Given the description of an element on the screen output the (x, y) to click on. 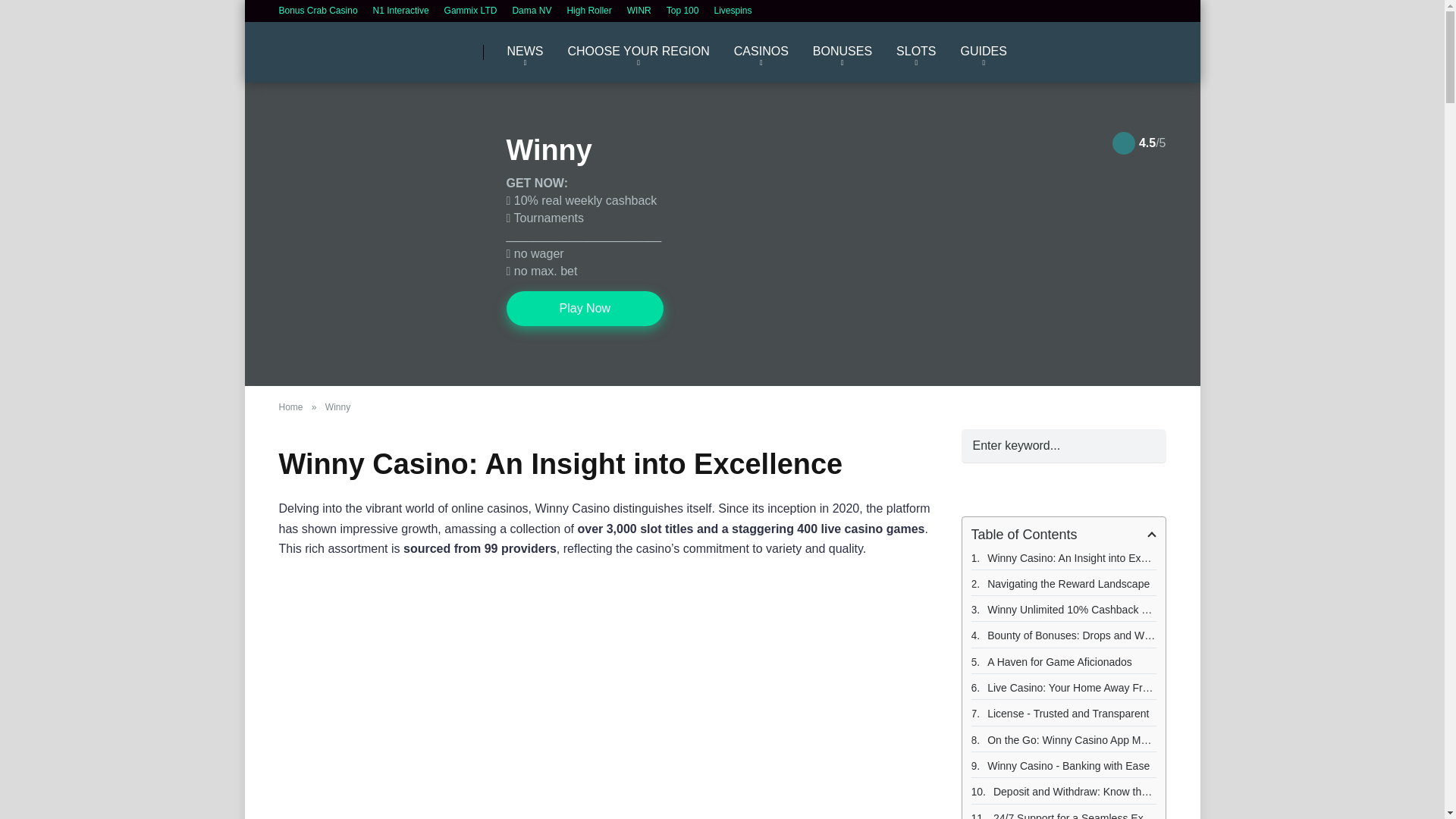
WINR (638, 9)
Livespins (732, 9)
Play Now (584, 308)
High Roller (588, 9)
Dama NV (531, 9)
N1 Interactive (400, 9)
Top 100 (682, 9)
Freespins777 (344, 46)
Gammix LTD (470, 9)
NEWS (524, 52)
CASINOS (761, 52)
CHOOSE YOUR REGION (637, 52)
Bonus Crab Casino (318, 9)
